Given the description of an element on the screen output the (x, y) to click on. 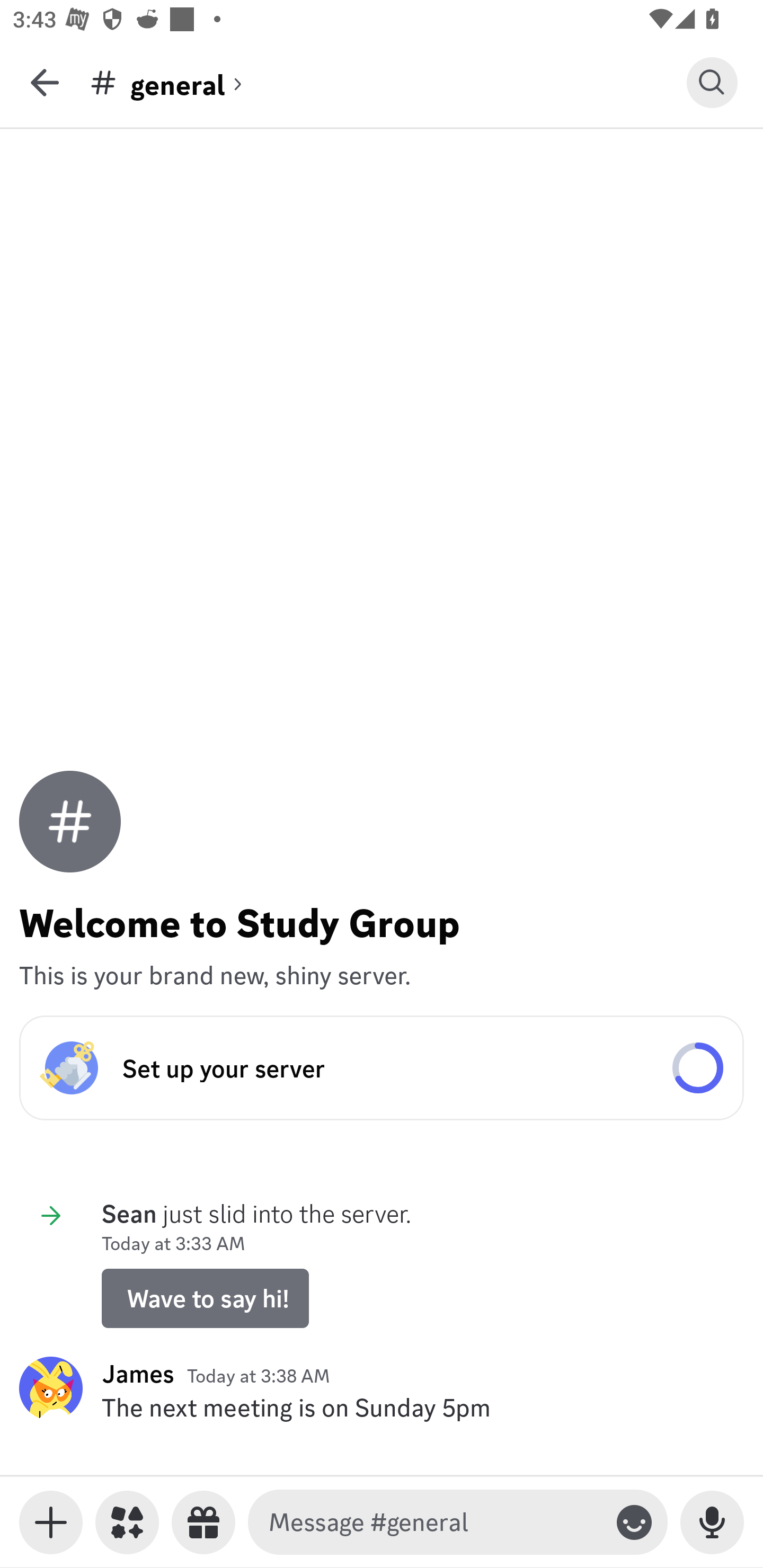
general (channel) general general (channel) (387, 82)
Back (44, 82)
Search (711, 82)
Set up your server (381, 1068)
Wave to say hi! (205, 1298)
James (137, 1373)
Toggle media keyboard (50, 1522)
Apps (126, 1522)
Send a gift (203, 1522)
Record Voice Message (711, 1522)
Message #general (433, 1522)
Toggle emoji keyboard (634, 1522)
